Given the description of an element on the screen output the (x, y) to click on. 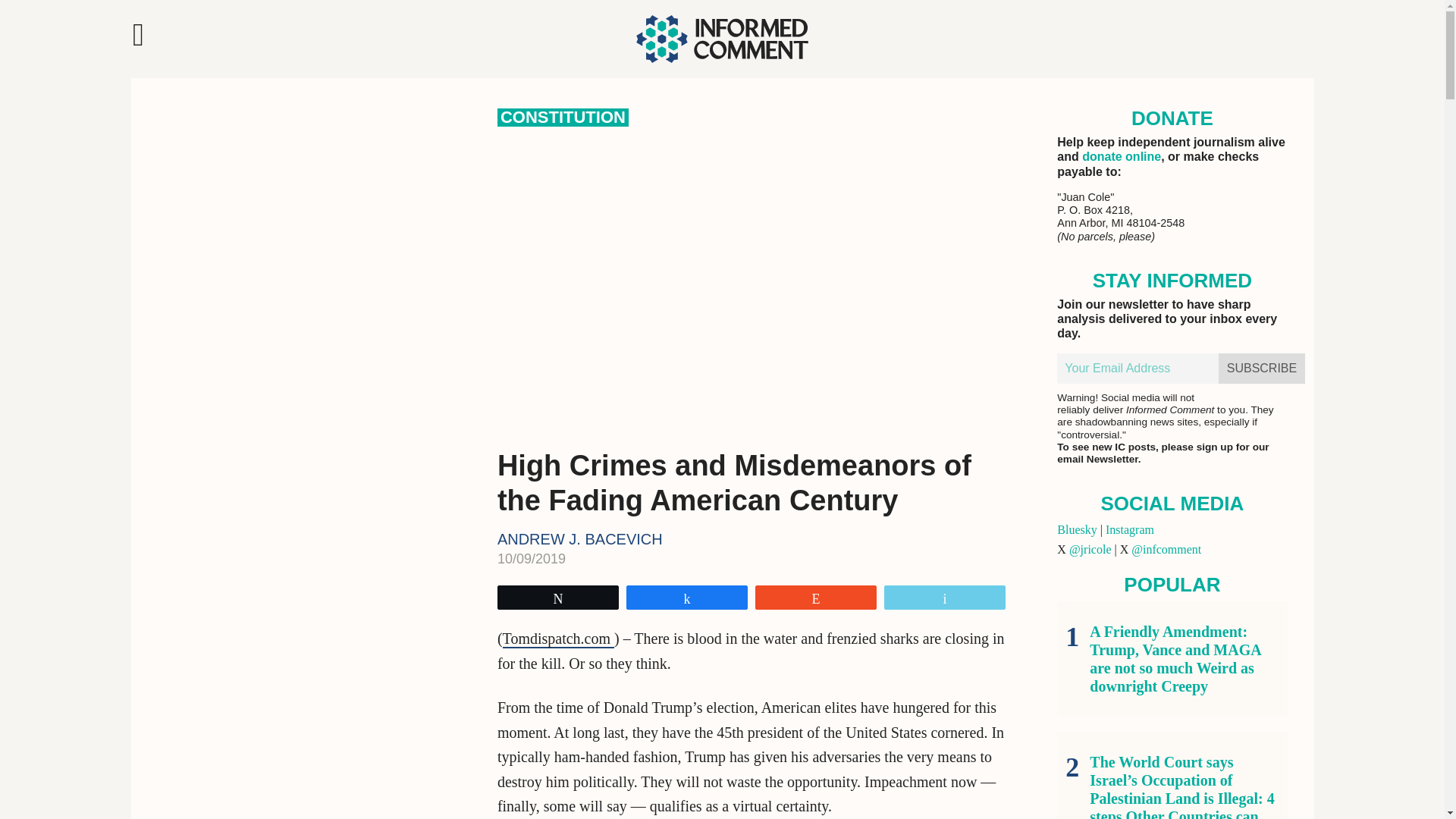
CONSTITUTION (562, 117)
Tomdispatch.com (558, 638)
subscribe (1262, 368)
ANDREW J. BACEVICH (579, 538)
